Given the description of an element on the screen output the (x, y) to click on. 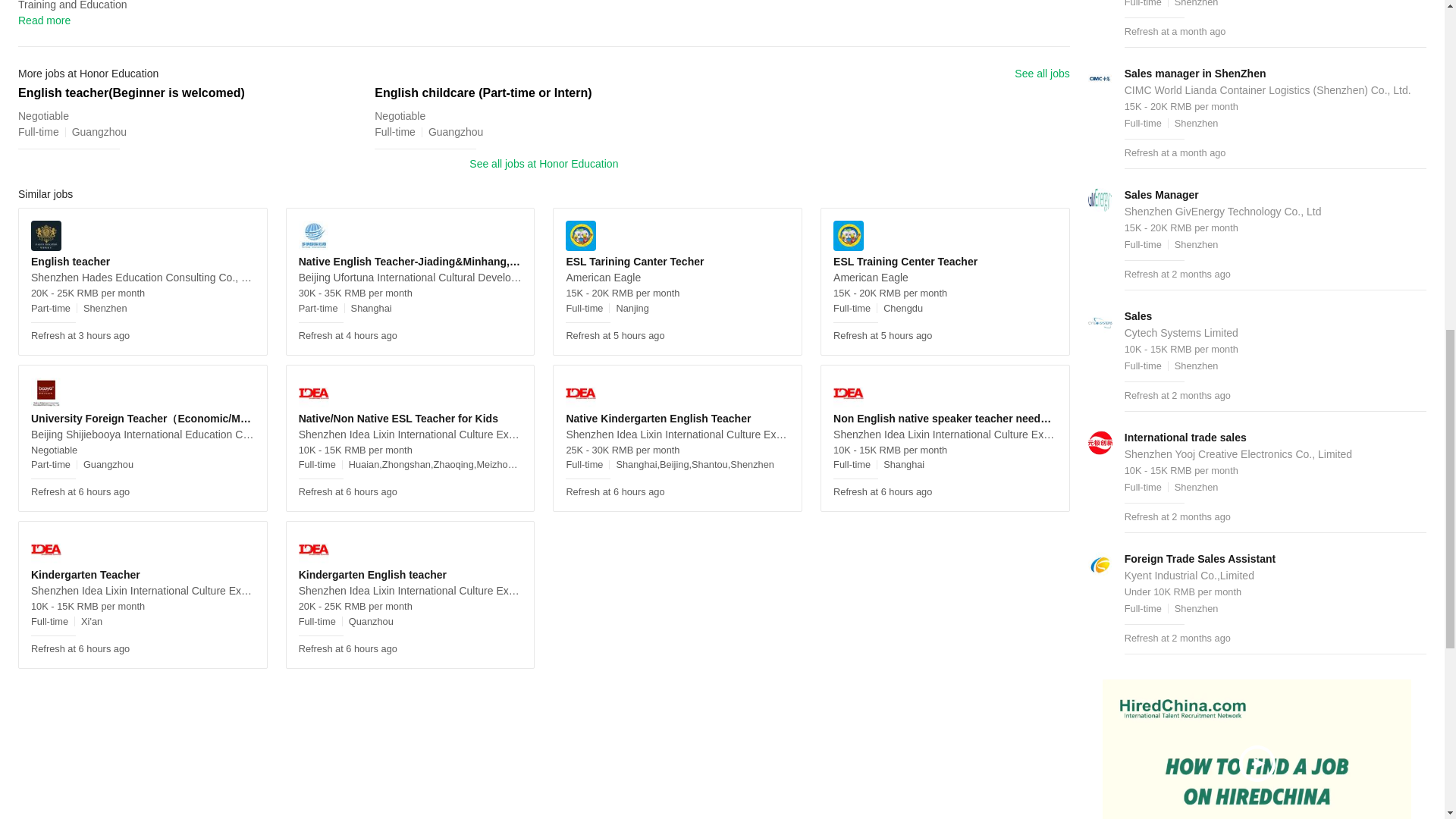
See all jobs at Honor Education (542, 163)
See all jobs (1041, 73)
Read more (43, 20)
